Given the description of an element on the screen output the (x, y) to click on. 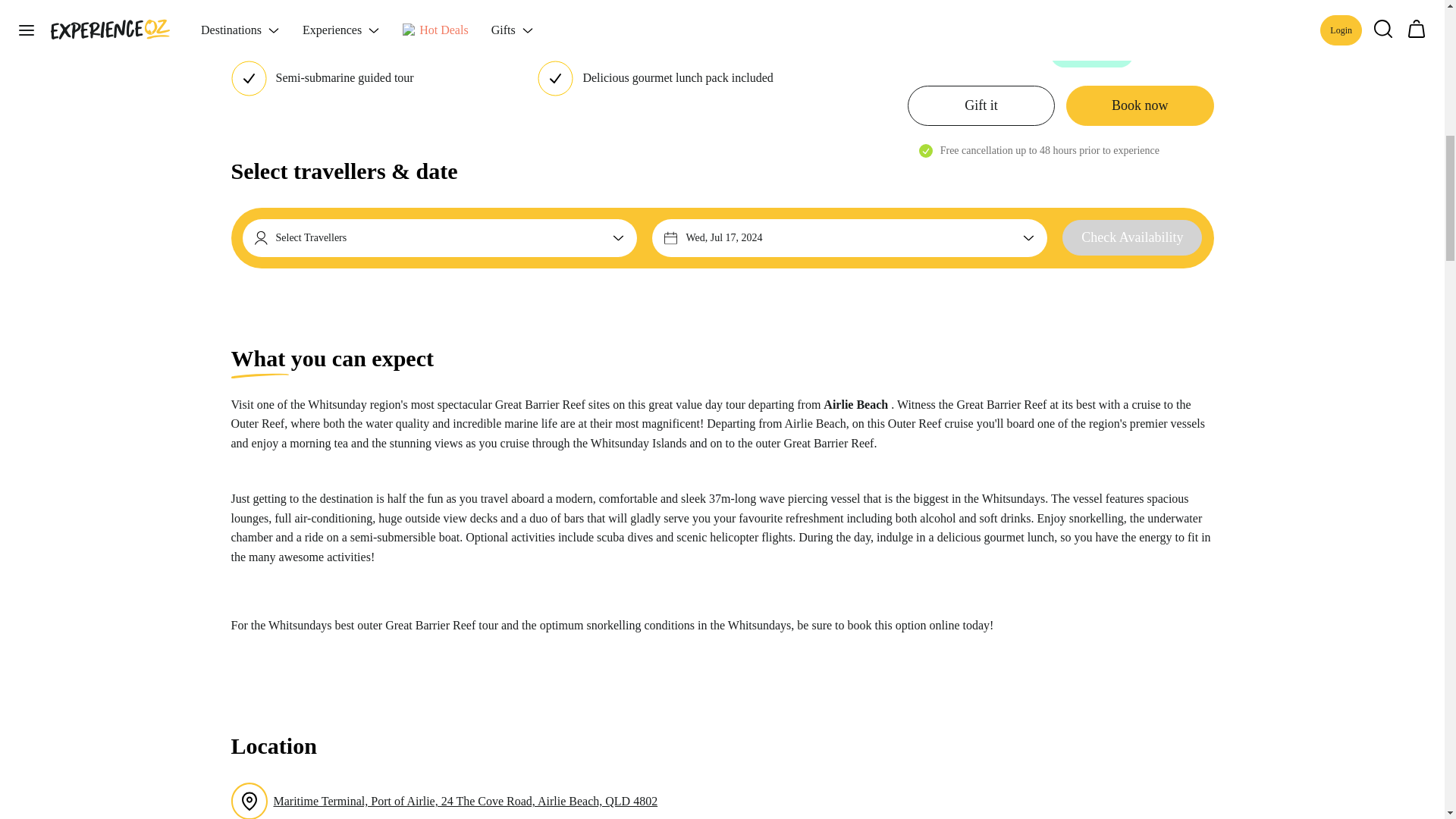
Check Availability (1132, 238)
